Given the description of an element on the screen output the (x, y) to click on. 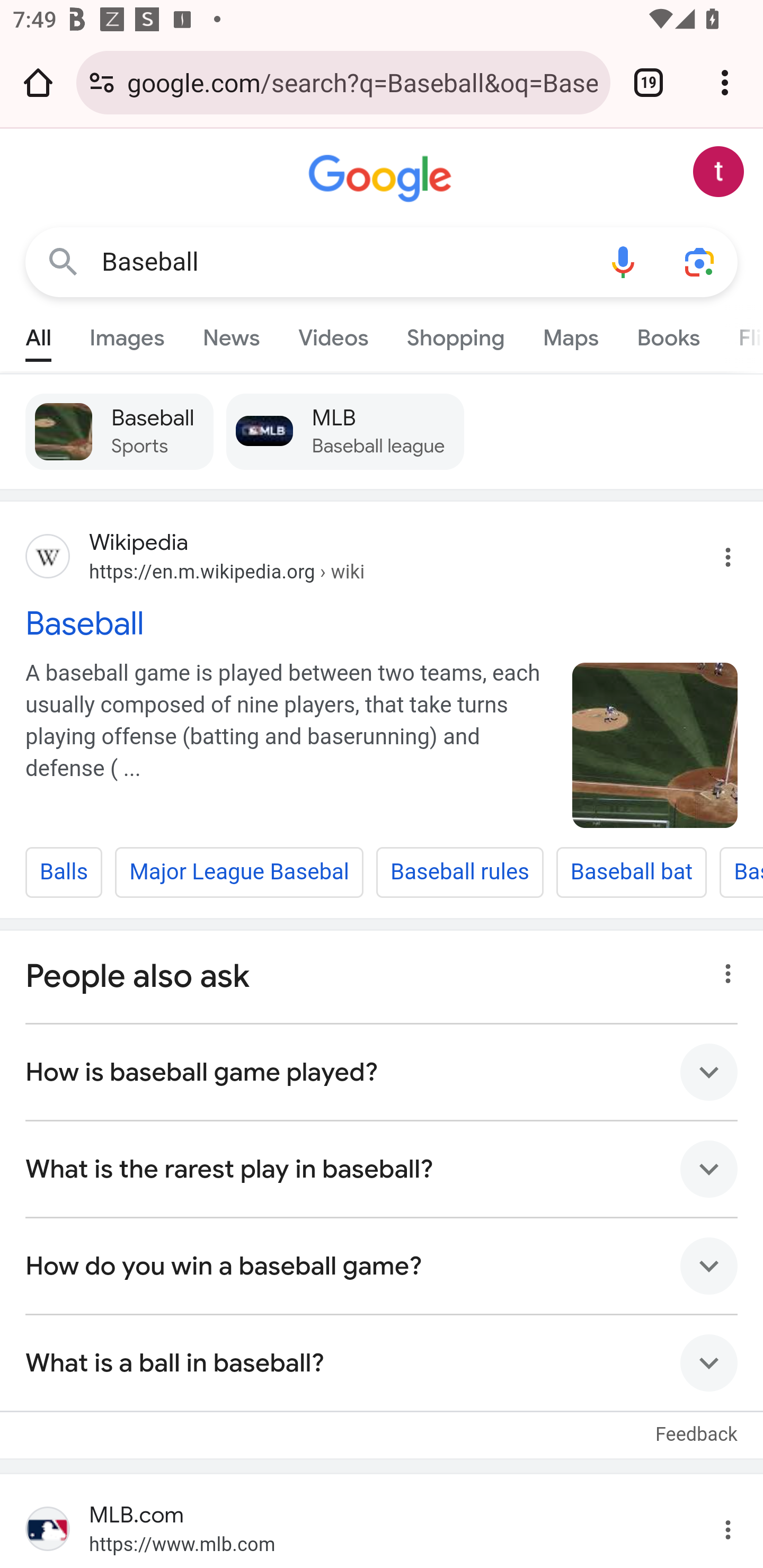
Open the home page (38, 82)
Connection is secure (101, 82)
Switch or close tabs (648, 82)
Customize and control Google Chrome (724, 82)
Google (381, 179)
Google Search (63, 262)
Search using your camera or photos (699, 262)
Baseball (343, 261)
Images (127, 333)
News (231, 333)
Videos (332, 333)
Shopping (455, 333)
Maps (570, 333)
Books (668, 333)
Baseball Sports Baseball Sports (119, 431)
MLB Baseball league MLB Baseball league (344, 431)
Baseball (381, 622)
Baseball (654, 744)
Balls (64, 871)
Major League Basebal (238, 871)
Baseball rules (459, 871)
Baseball bat (630, 871)
About this result (723, 968)
How is baseball game played? (381, 1072)
What is the rarest play in baseball? (381, 1168)
How do you win a baseball game? (381, 1264)
What is a ball in baseball? (381, 1362)
Feedback (696, 1424)
